Given the description of an element on the screen output the (x, y) to click on. 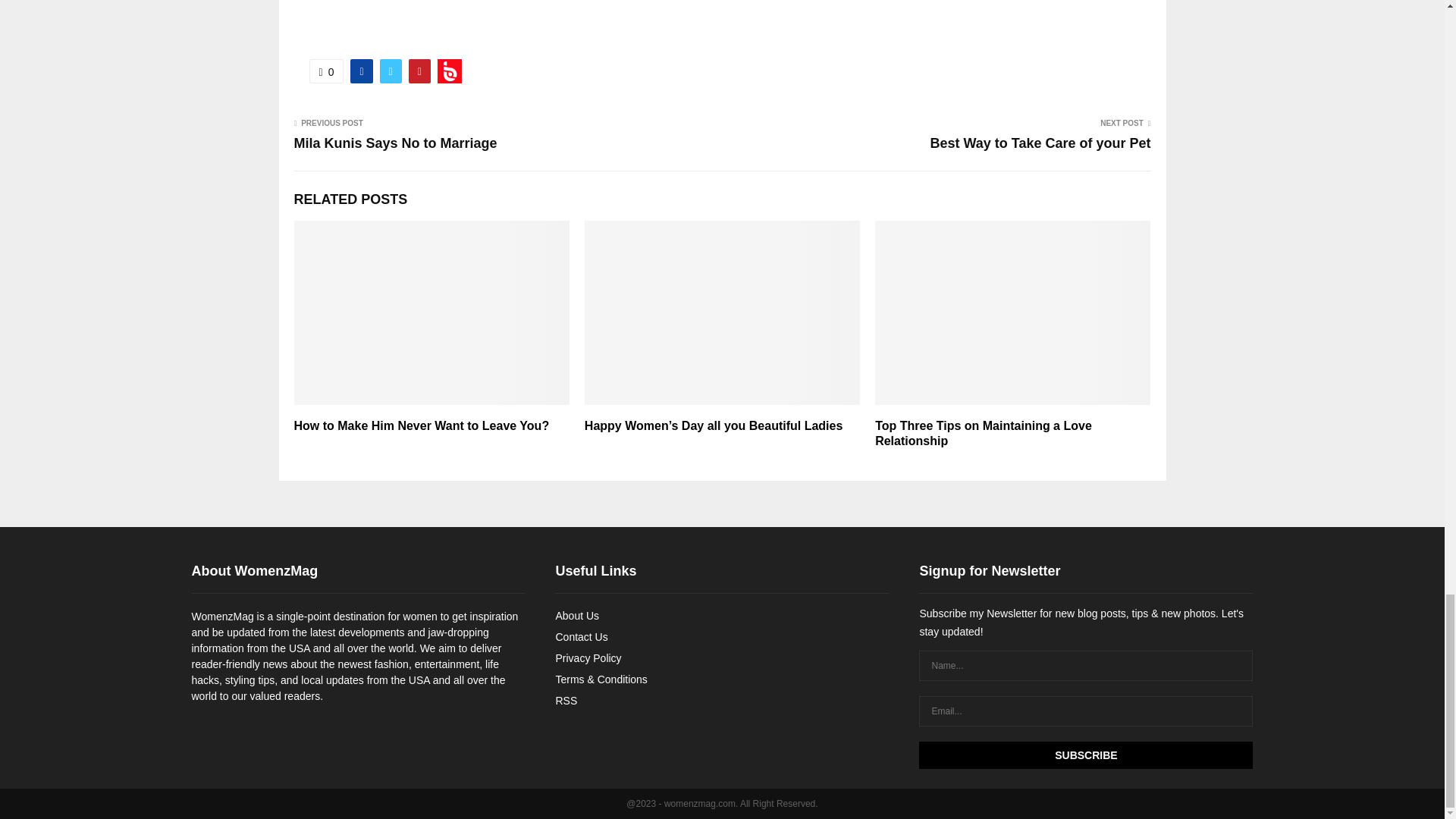
Best Way to Take Care of your Pet (1040, 142)
Subscribe (1085, 755)
Top Three Tips on Maintaining a Love Relationship (983, 433)
Like (325, 70)
0 (325, 70)
Mila Kunis Says No to Marriage (395, 142)
How to Make Him Never Want to Leave You? (422, 425)
